Given the description of an element on the screen output the (x, y) to click on. 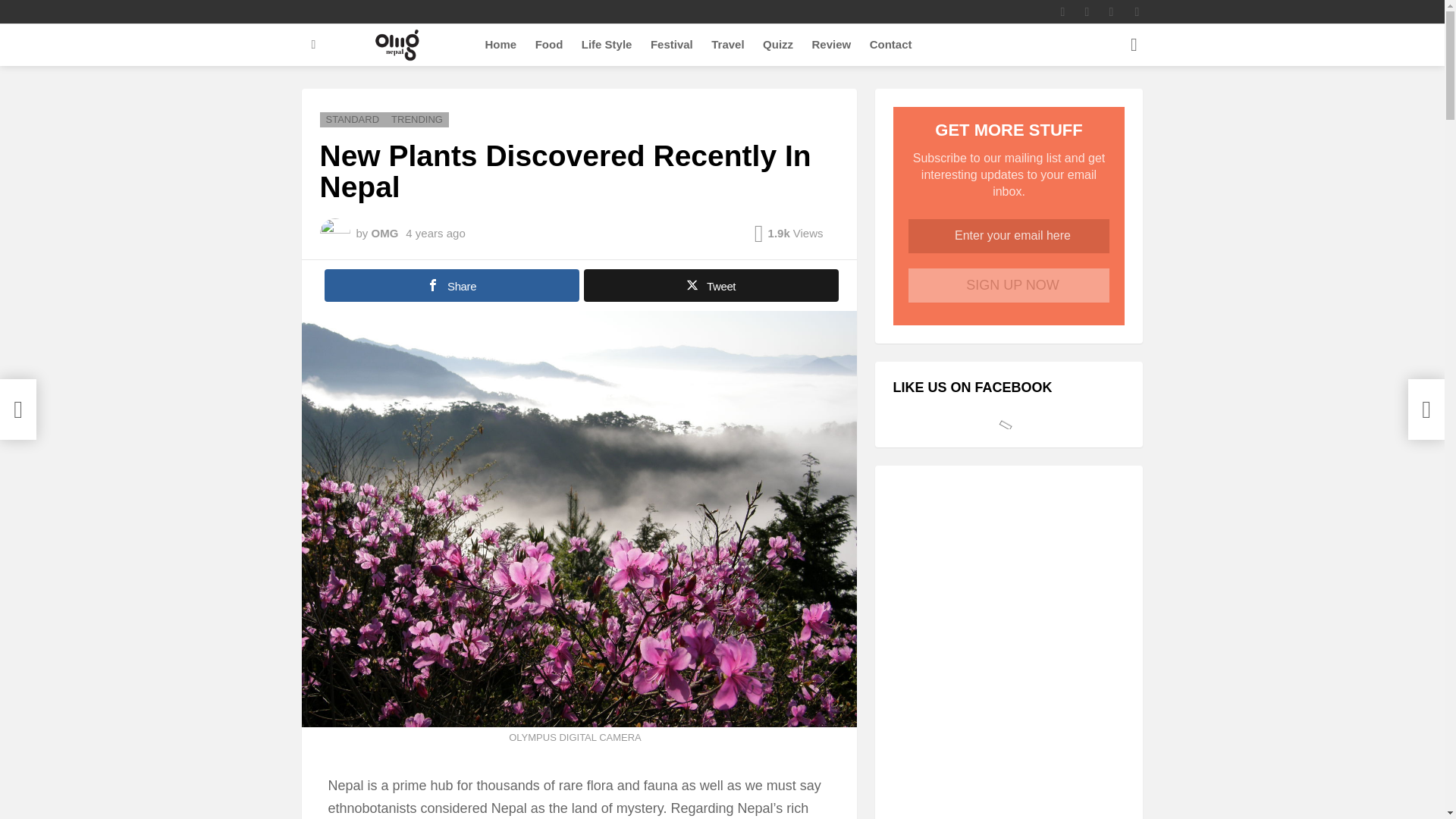
Advertisement (1009, 770)
Posts by OMG (384, 232)
Travel (727, 44)
instagram (1061, 12)
Review (831, 44)
STANDARD (352, 119)
Tweet (710, 285)
facebook (1086, 12)
Menu (313, 45)
Life Style (606, 44)
OMG (384, 232)
Home (500, 44)
Share (451, 285)
Festival (671, 44)
July 13, 2020, 4:05 pm (435, 233)
